Given the description of an element on the screen output the (x, y) to click on. 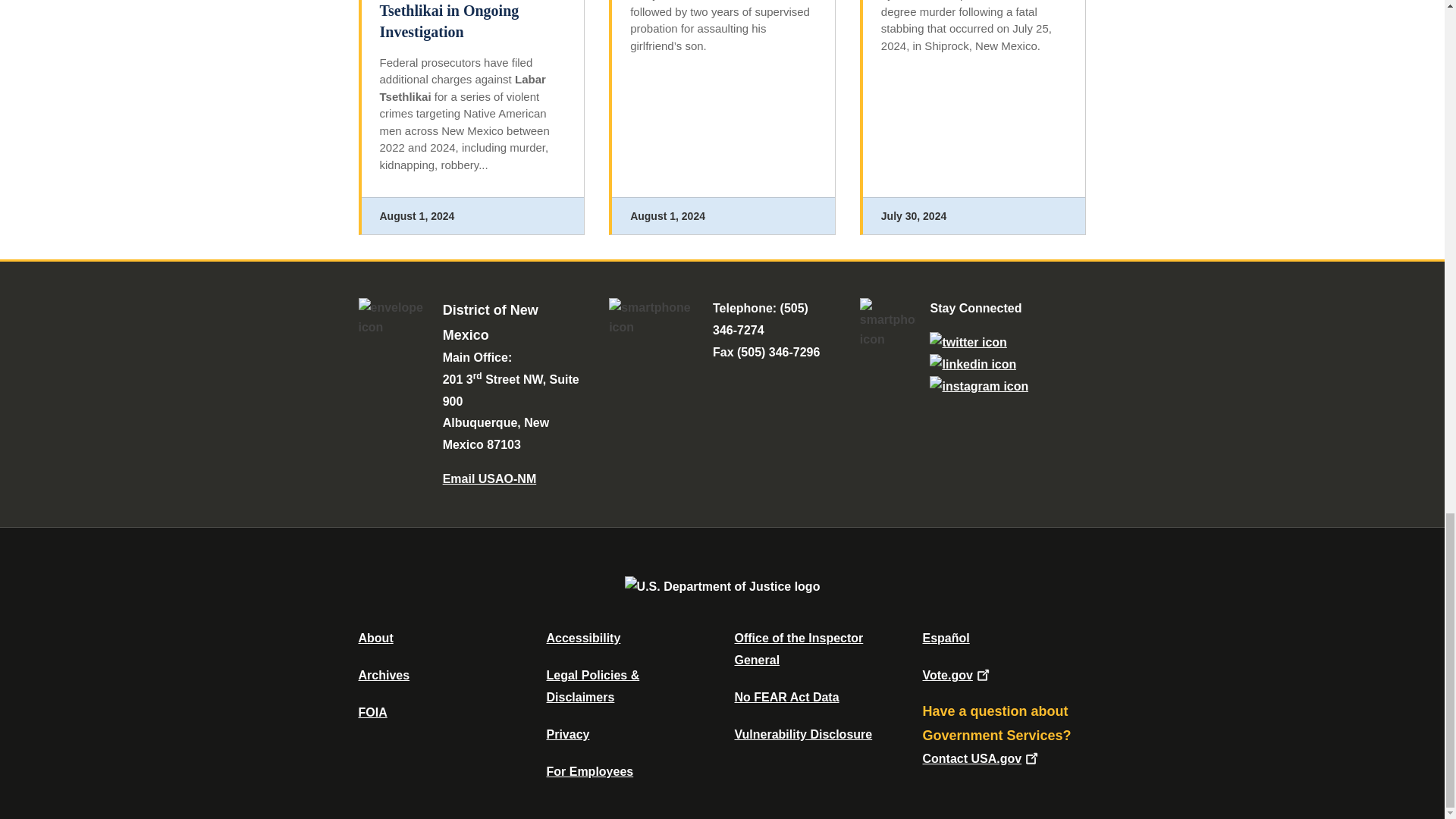
Department of Justice Archive (383, 675)
Office of Information Policy (372, 712)
For Employees (589, 771)
Legal Policies and Disclaimers (592, 686)
About DOJ (375, 637)
Data Posted Pursuant To The No Fear Act (785, 697)
Accessibility Statement (583, 637)
